Given the description of an element on the screen output the (x, y) to click on. 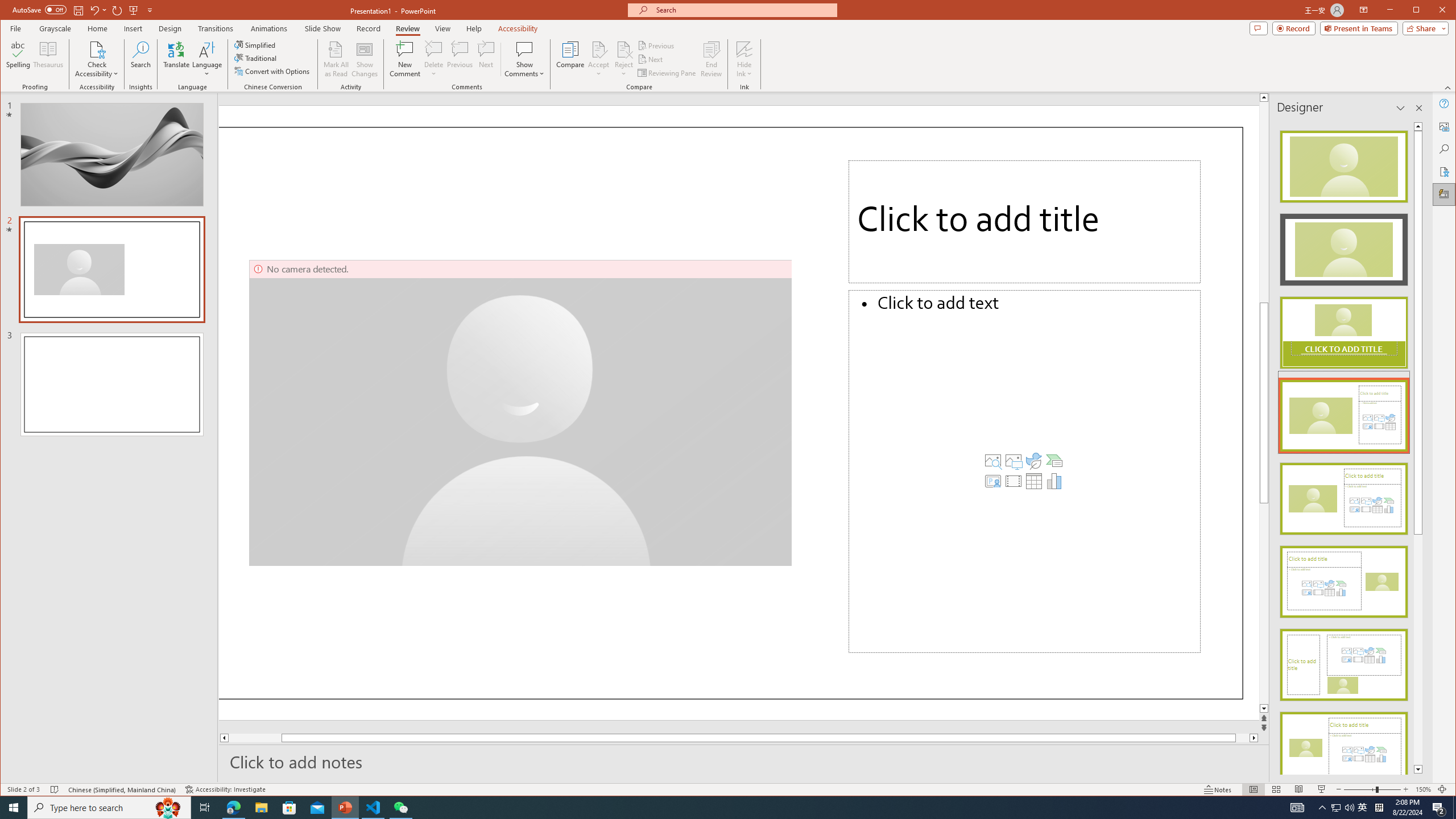
End Review (710, 59)
